Given the description of an element on the screen output the (x, y) to click on. 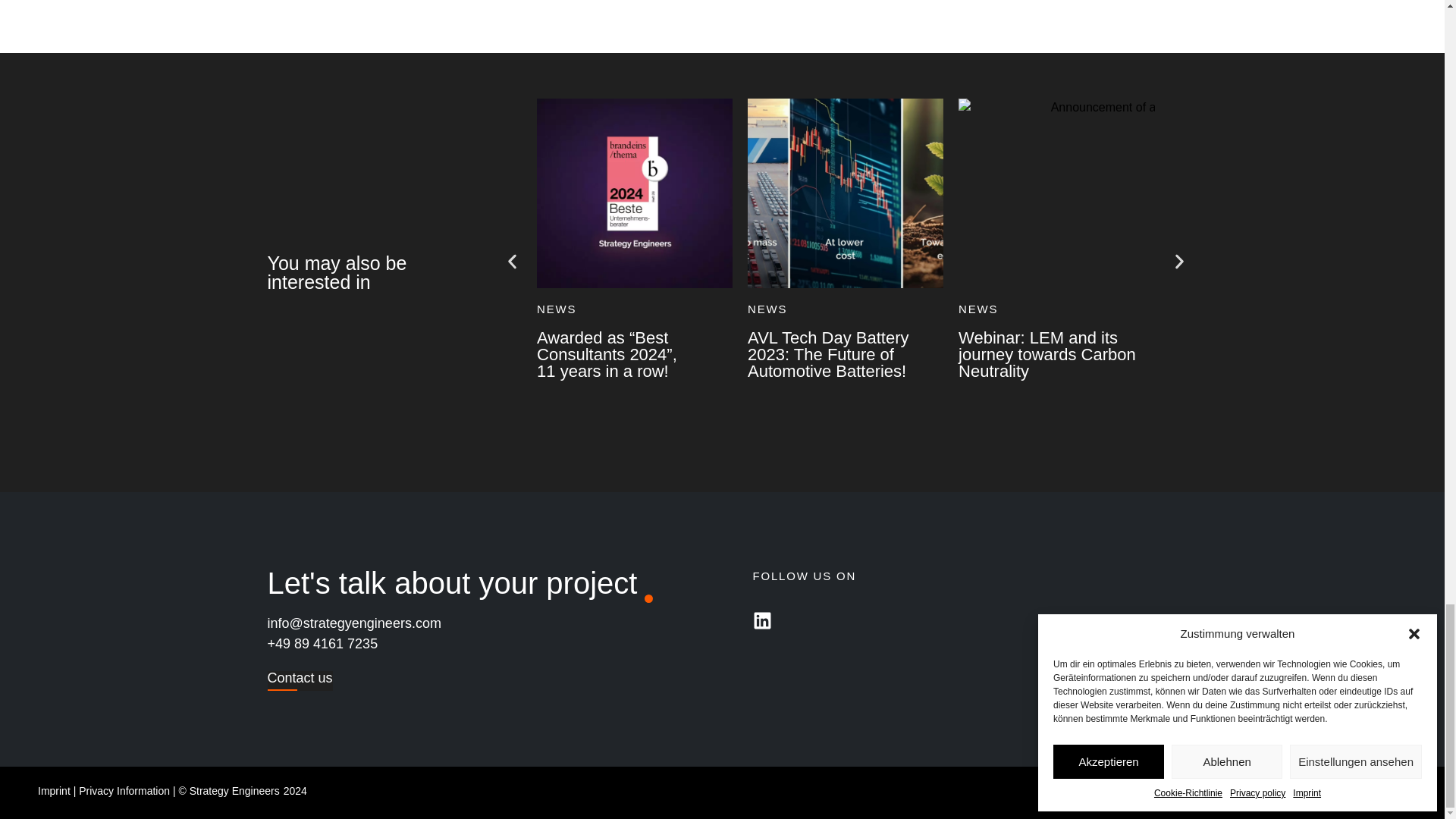
Webinar: LEM and its journey towards Carbon Neutrality (1046, 354)
